Given the description of an element on the screen output the (x, y) to click on. 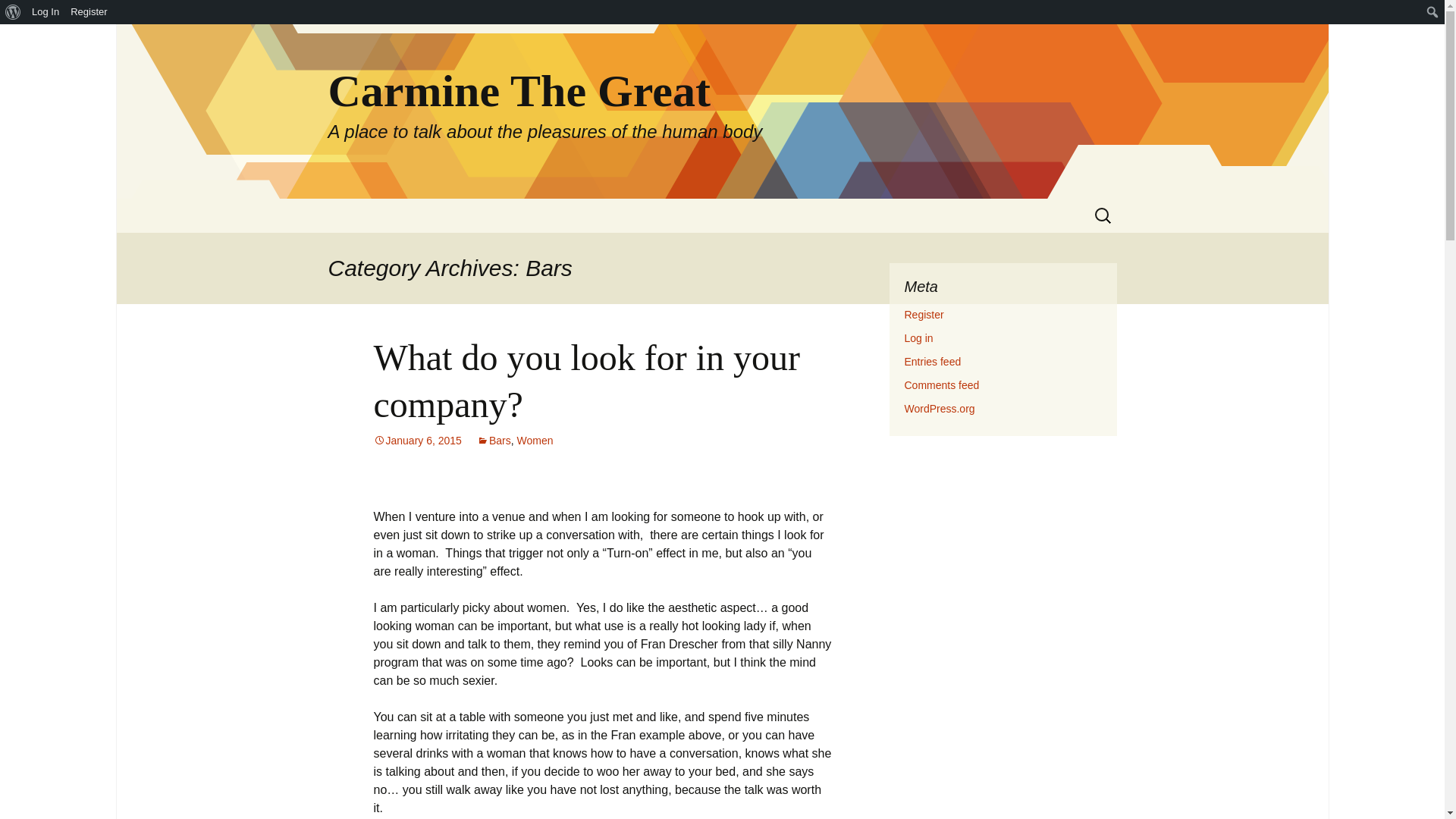
Register (89, 12)
Register (923, 314)
Log In (45, 12)
WordPress.org (939, 408)
Comments feed (941, 385)
January 6, 2015 (416, 440)
Entries feed (932, 361)
Search (18, 15)
What do you look for in your company? (585, 381)
